Given the description of an element on the screen output the (x, y) to click on. 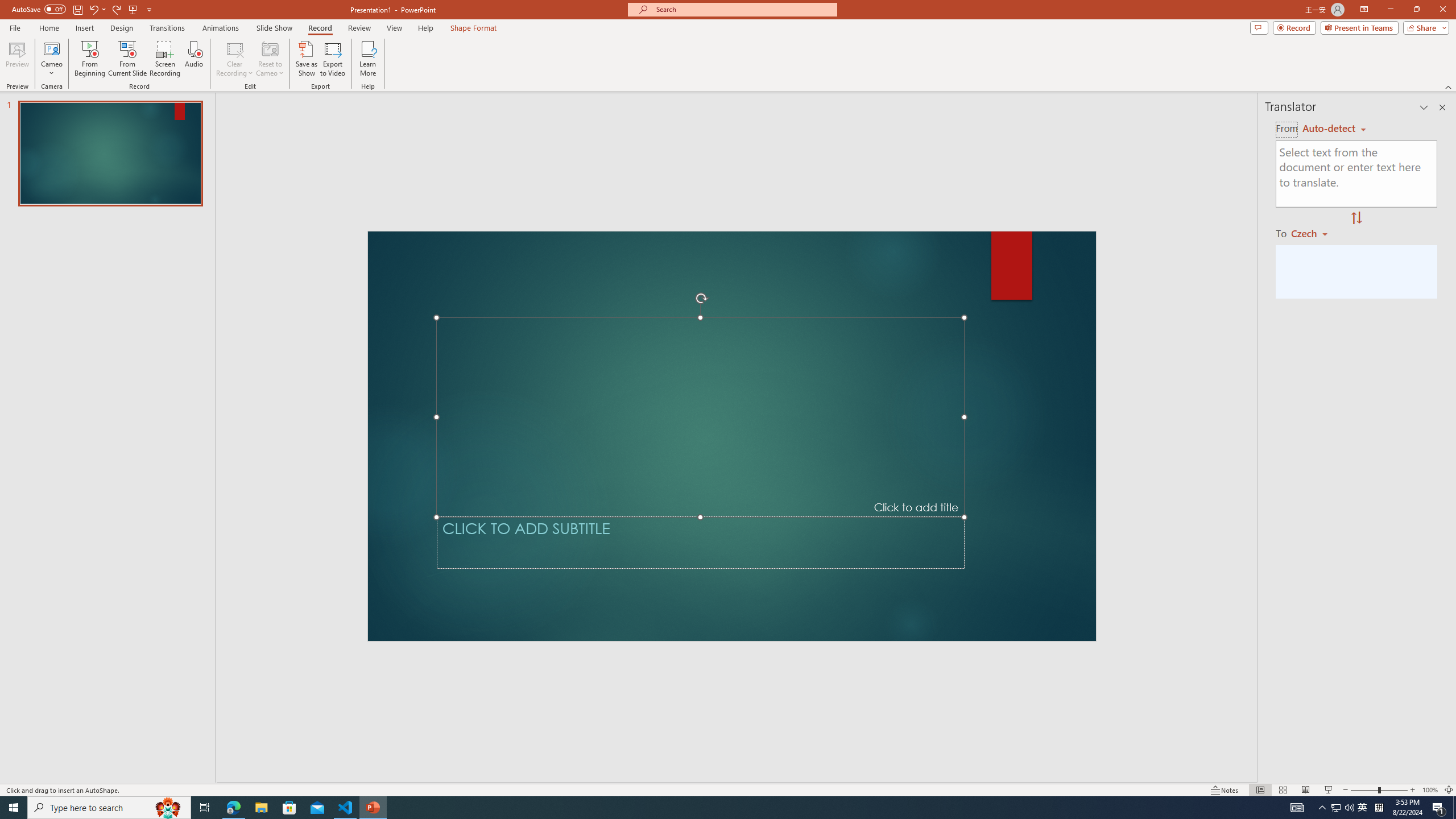
Screen Recording (165, 58)
Title TextBox (699, 416)
Audio (193, 58)
Clear Recording (234, 58)
